Given the description of an element on the screen output the (x, y) to click on. 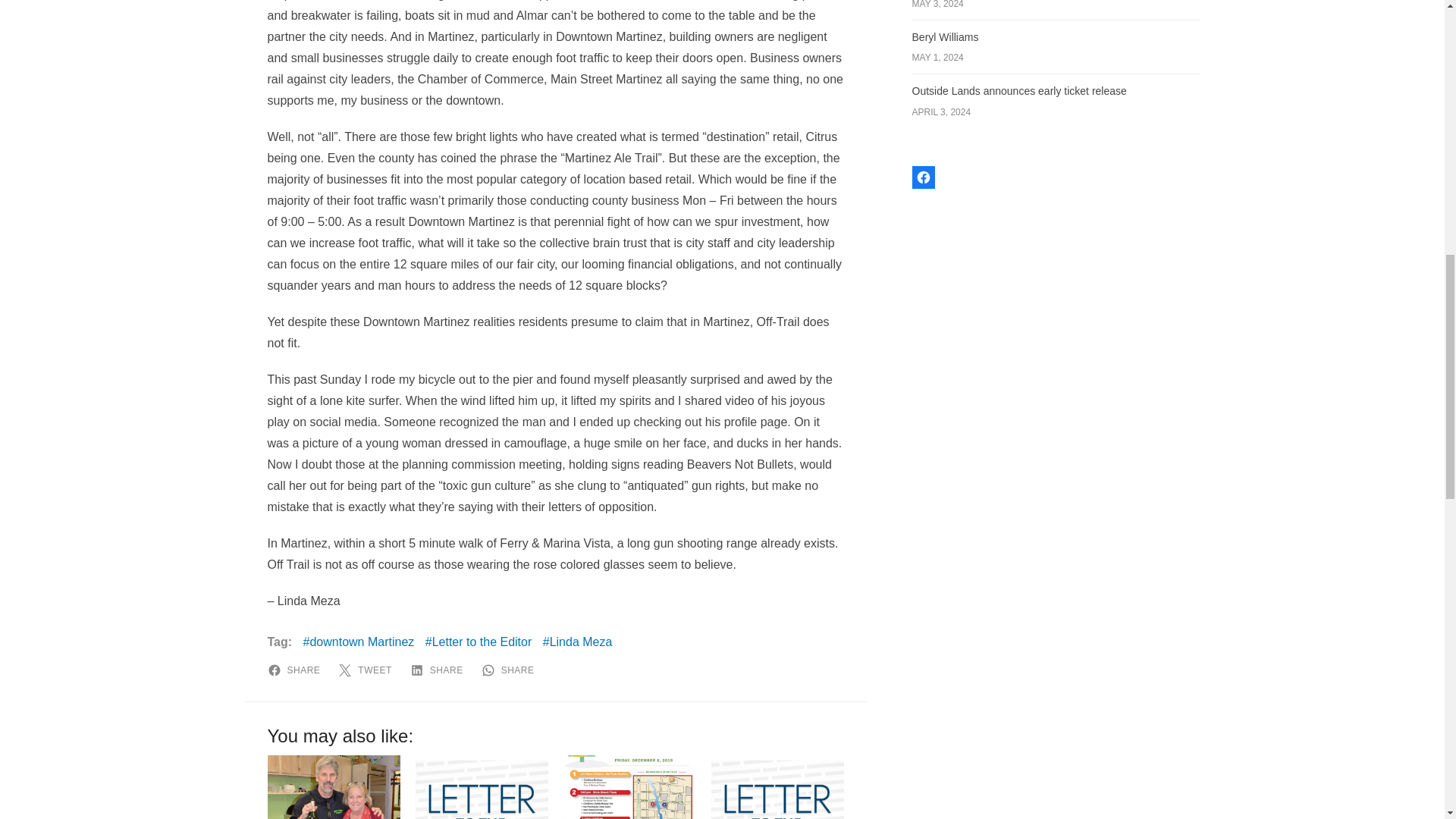
SHARE (296, 669)
Share on Twitter (367, 669)
SHARE (510, 669)
TWEET (367, 669)
Linda Meza (577, 642)
Share on WhatsApp (510, 669)
Share on Facebook (296, 669)
Share on LinkedIn (439, 669)
downtown Martinez (358, 642)
SHARE (439, 669)
